Given the description of an element on the screen output the (x, y) to click on. 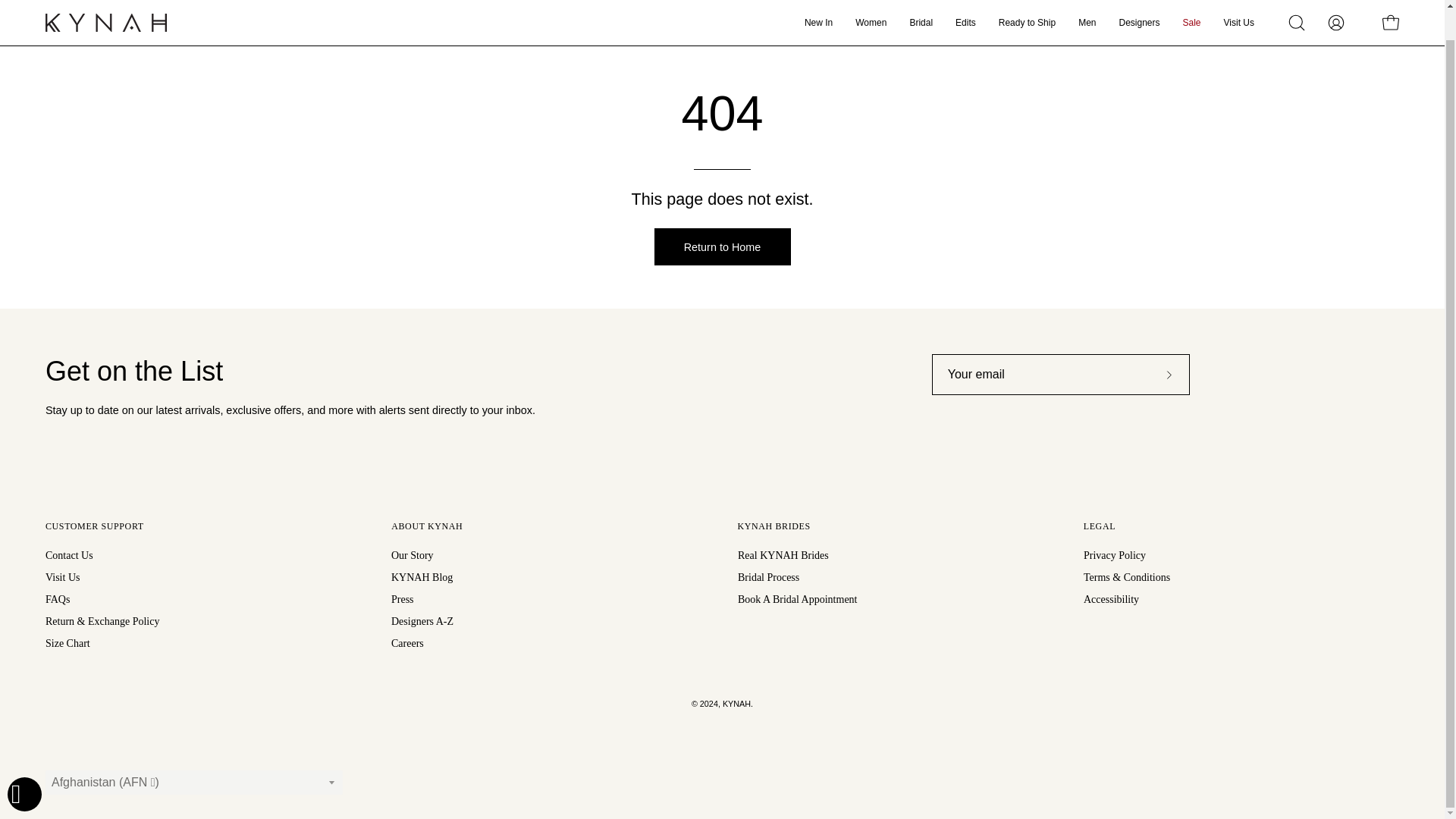
Open search bar (1297, 22)
